Given the description of an element on the screen output the (x, y) to click on. 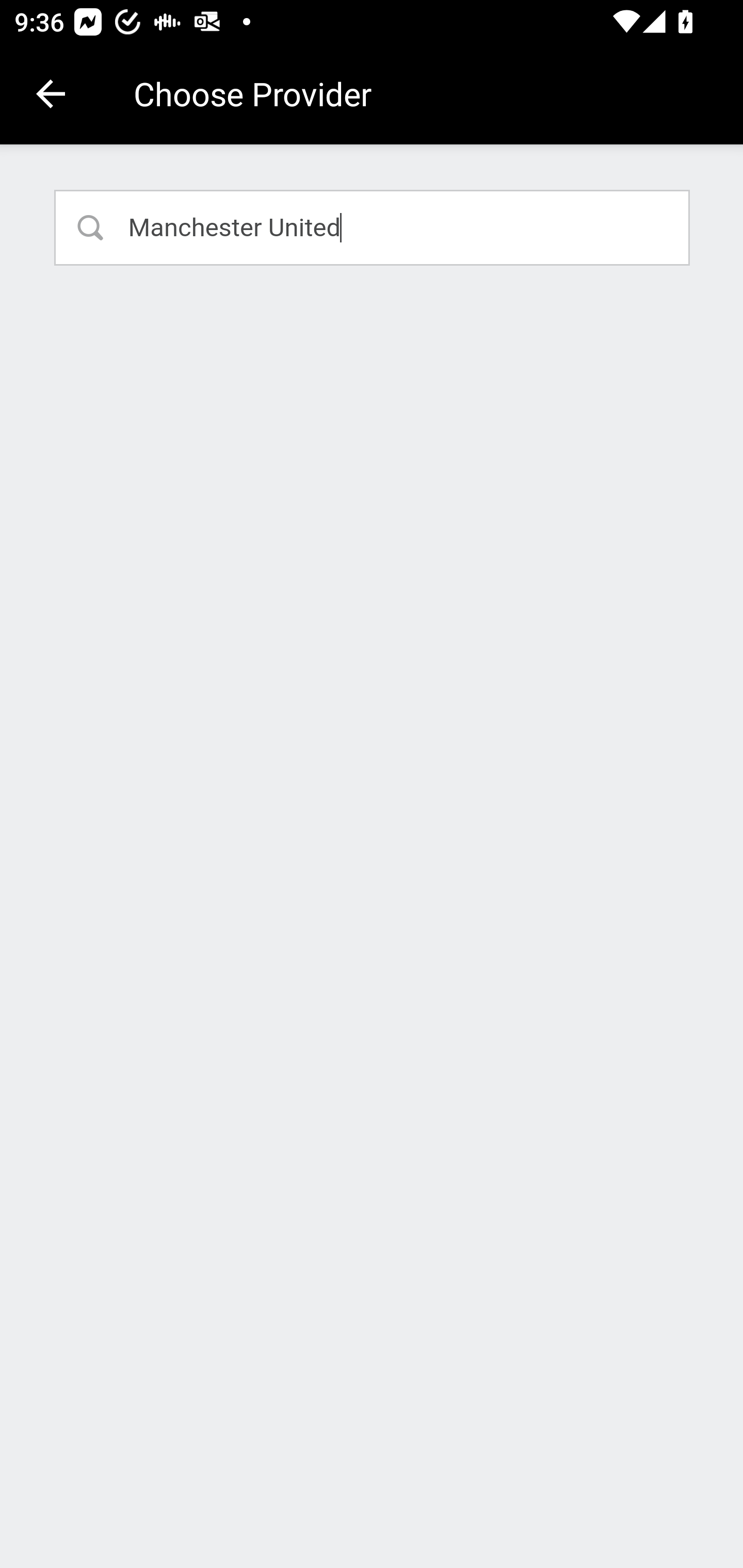
Navigate up (50, 93)
Manchester United (372, 227)
